Given the description of an element on the screen output the (x, y) to click on. 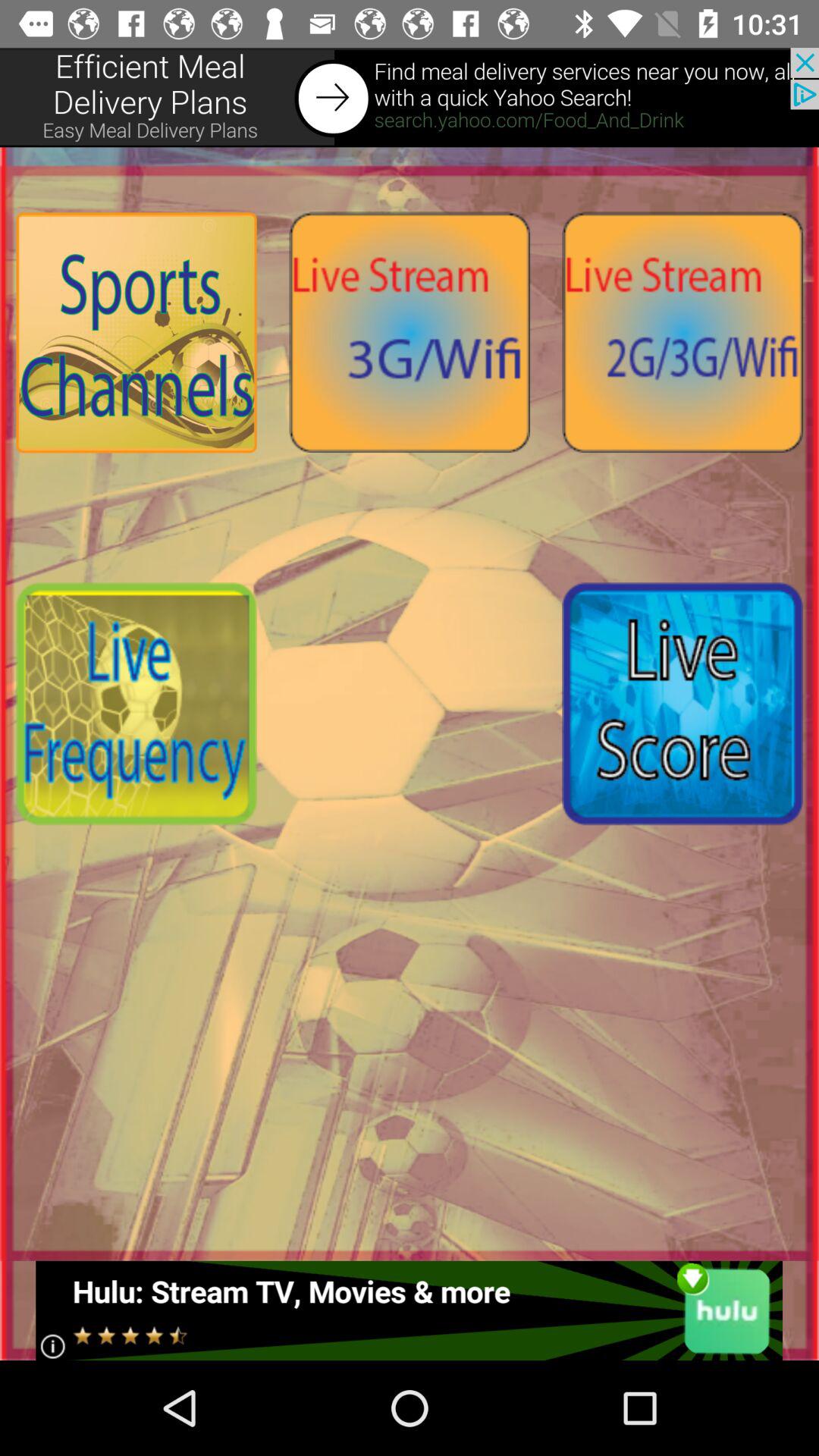
connectivity toggle (409, 332)
